Given the description of an element on the screen output the (x, y) to click on. 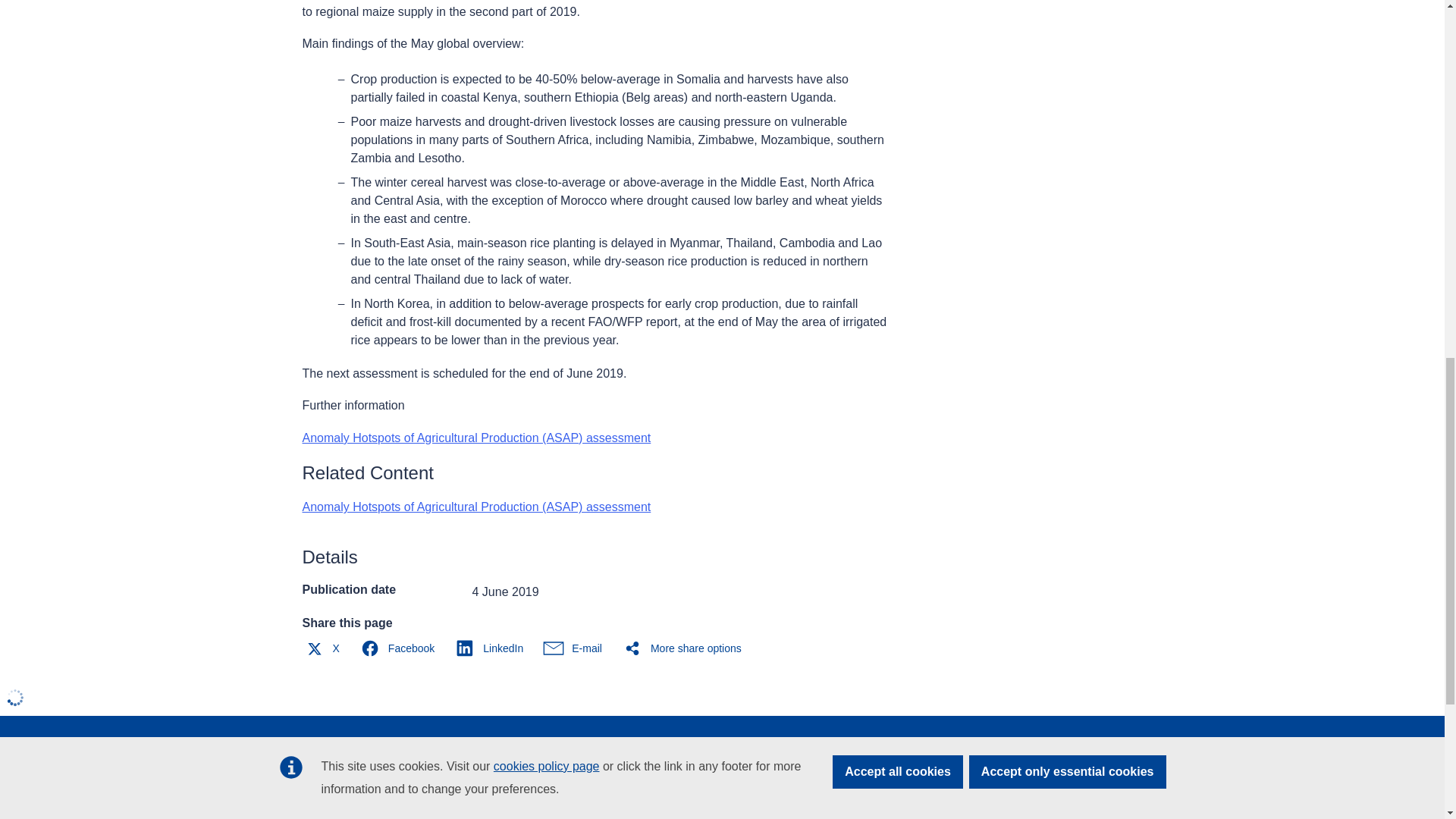
EU Science Hub (347, 754)
LinkedIn (492, 648)
Privacy statement (637, 812)
More share options (685, 648)
X (324, 648)
Get in touch with us (643, 785)
Facebook (401, 648)
E-mail (576, 648)
